Given the description of an element on the screen output the (x, y) to click on. 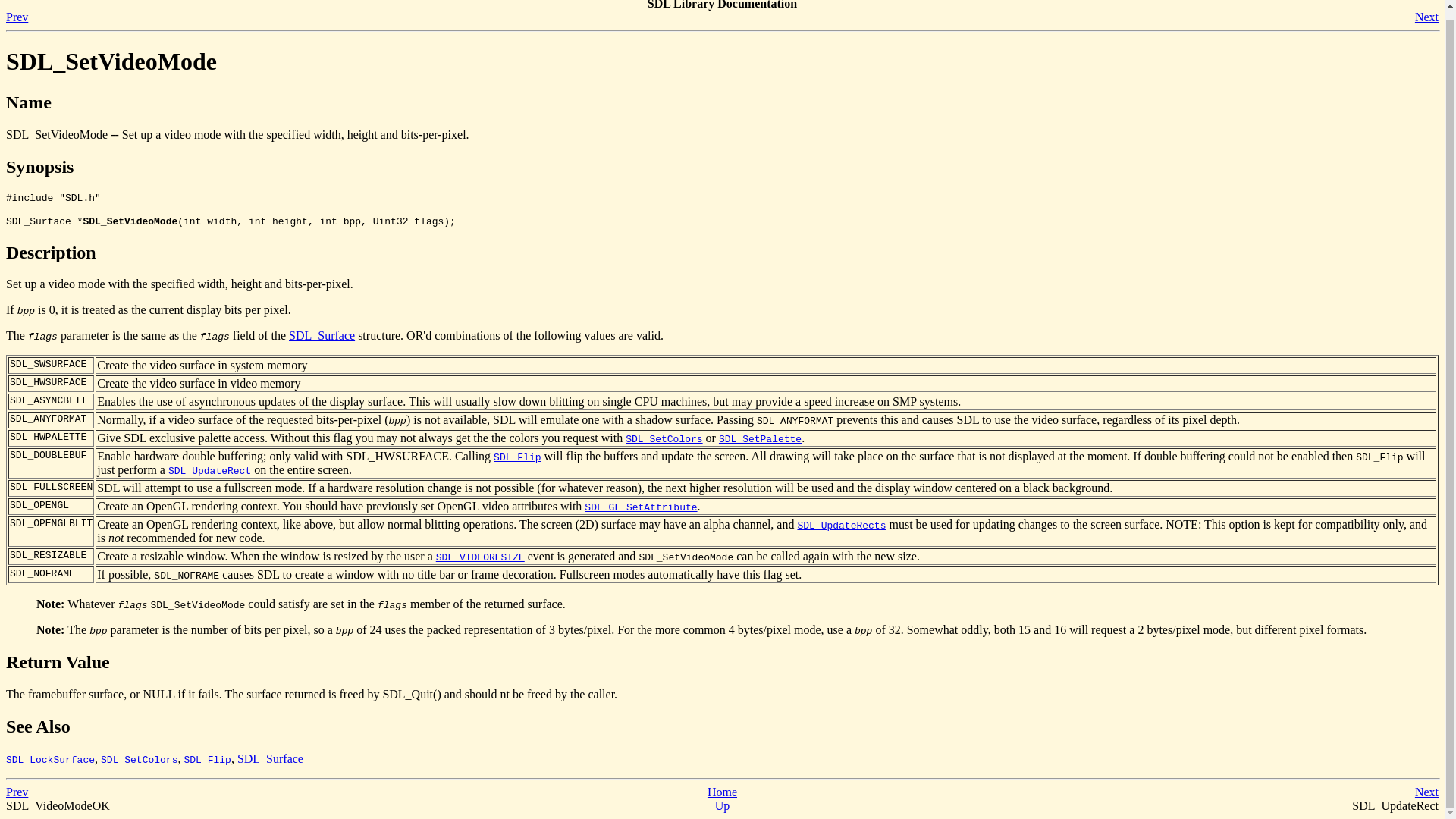
Home (721, 791)
Next (1426, 791)
Up (722, 805)
Prev (16, 791)
Next (1426, 16)
Prev (16, 16)
